Given the description of an element on the screen output the (x, y) to click on. 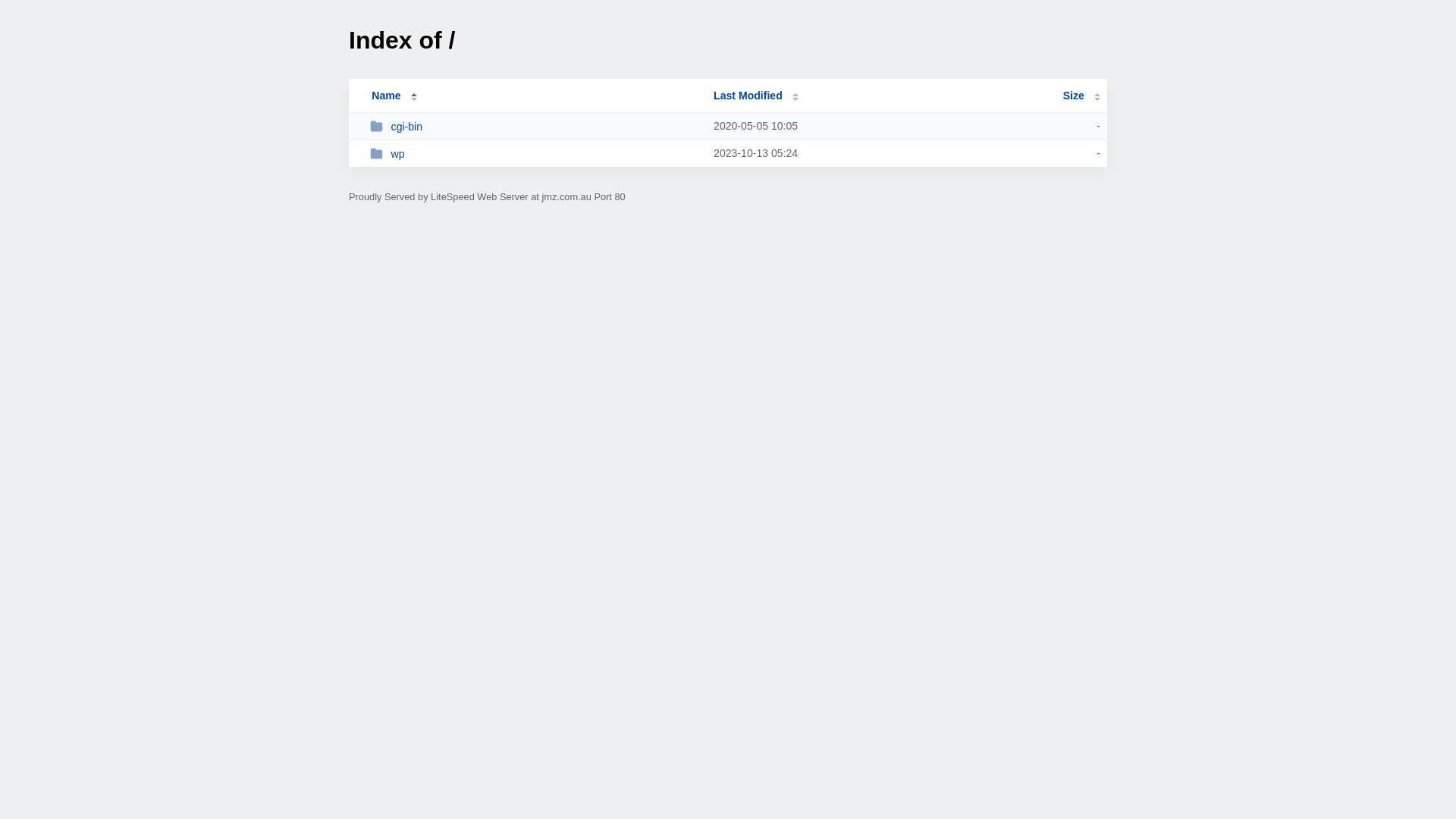
wp Element type: text (534, 153)
Name Element type: text (385, 95)
Size Element type: text (1081, 95)
cgi-bin Element type: text (534, 125)
Last Modified Element type: text (755, 95)
